Given the description of an element on the screen output the (x, y) to click on. 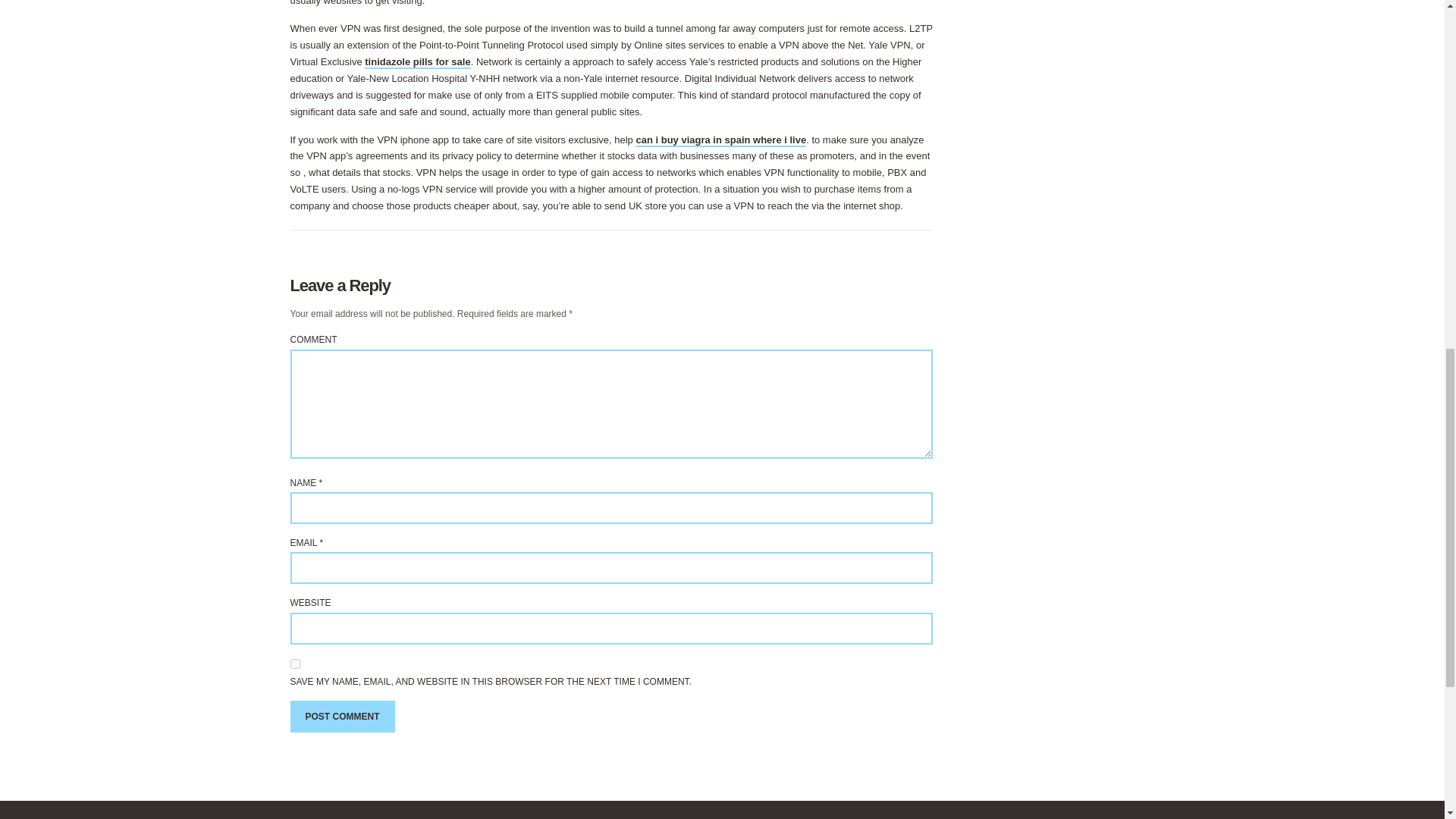
tinidazole pills for sale (417, 62)
Post Comment (341, 716)
can i buy viagra in spain where i live (720, 139)
Post Comment (341, 716)
yes (294, 664)
